Given the description of an element on the screen output the (x, y) to click on. 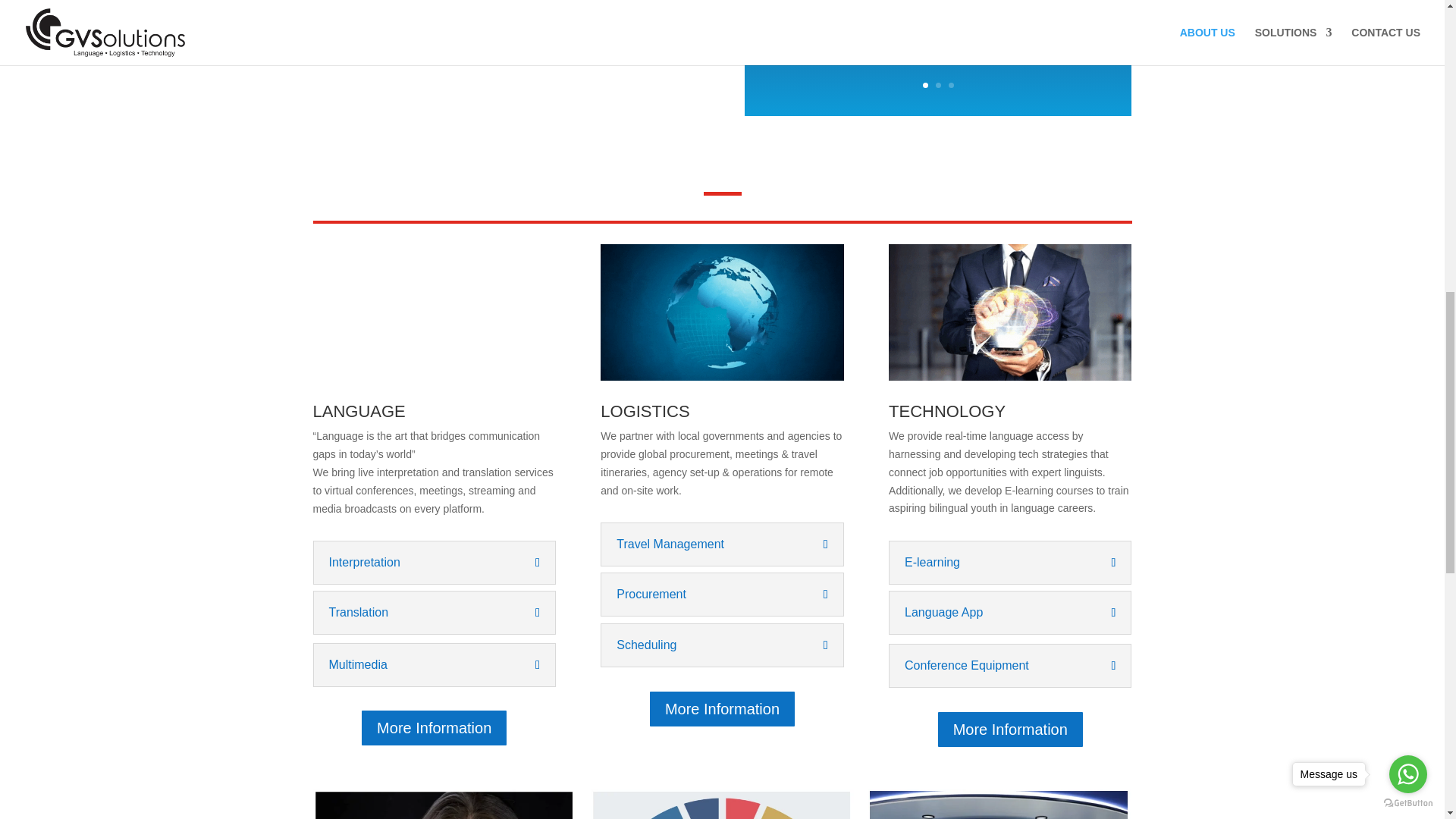
Introduction Video - CEO GV Solutions LLC (505, 46)
More Information (1010, 729)
More Information (433, 727)
More Information (721, 709)
